Given the description of an element on the screen output the (x, y) to click on. 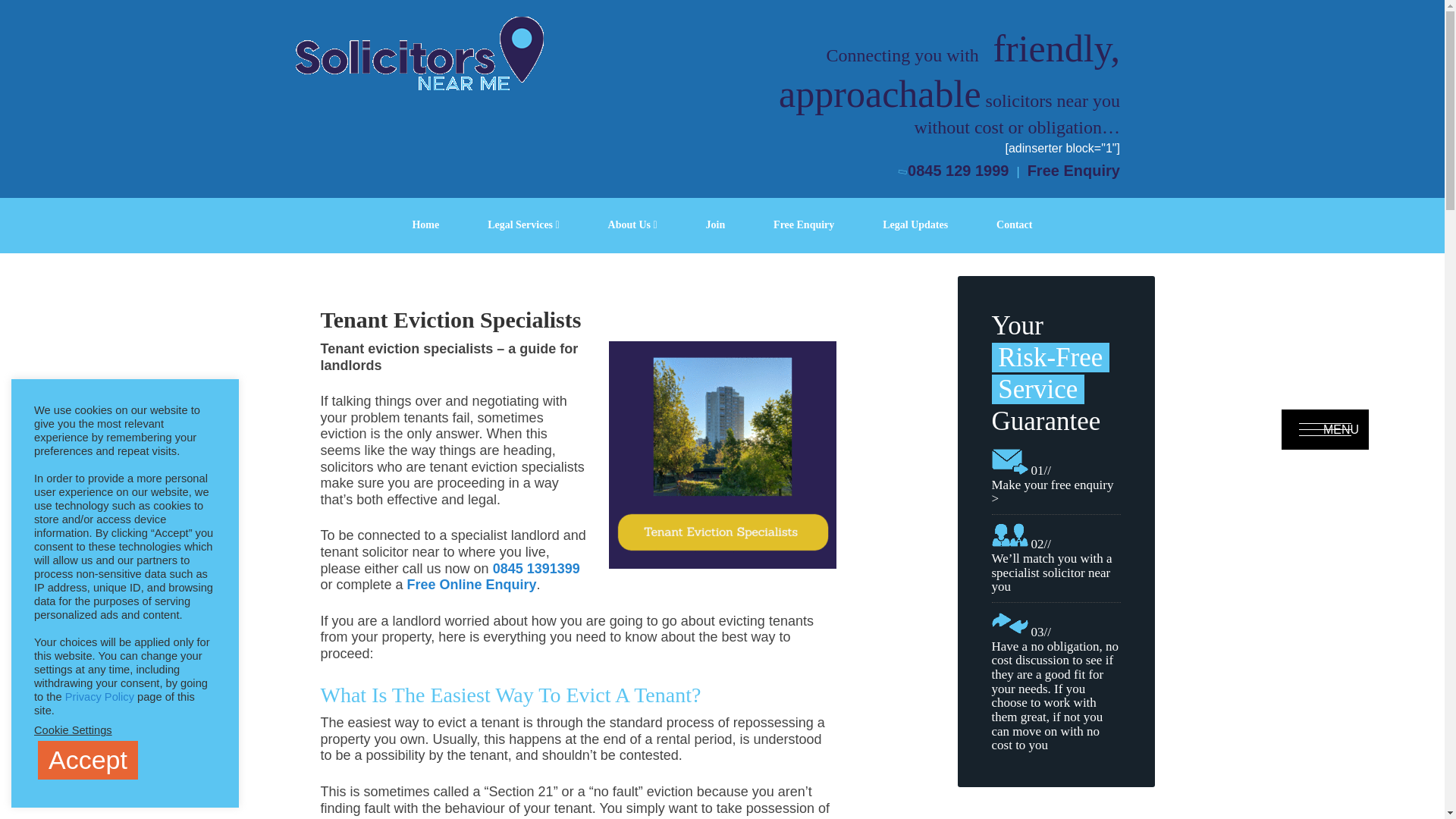
Chat Invitation (1322, 679)
Tenant Eviction Specialists (721, 454)
